Given the description of an element on the screen output the (x, y) to click on. 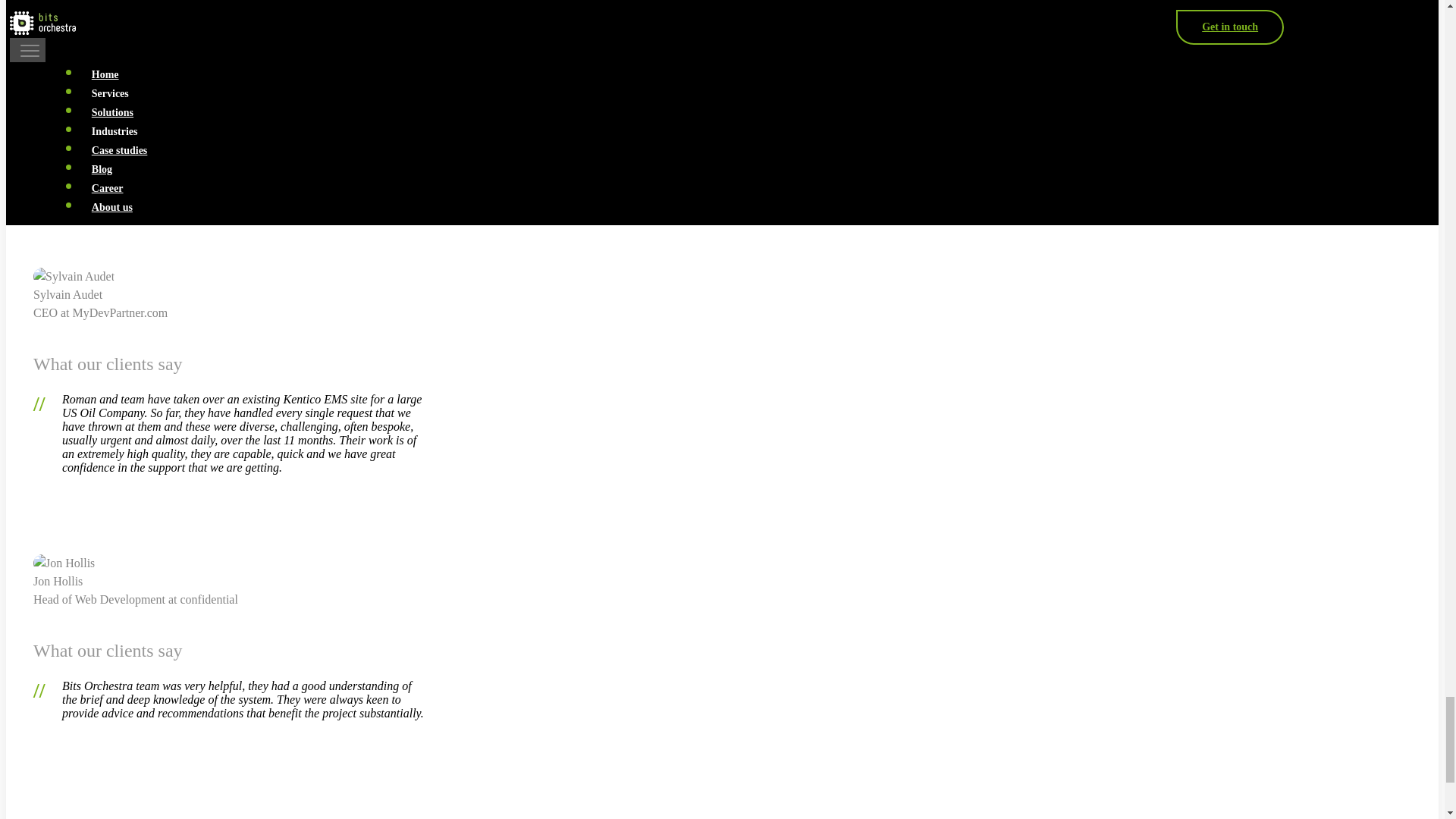
Jon Hollis (63, 563)
Sylvain Audet (74, 276)
